Given the description of an element on the screen output the (x, y) to click on. 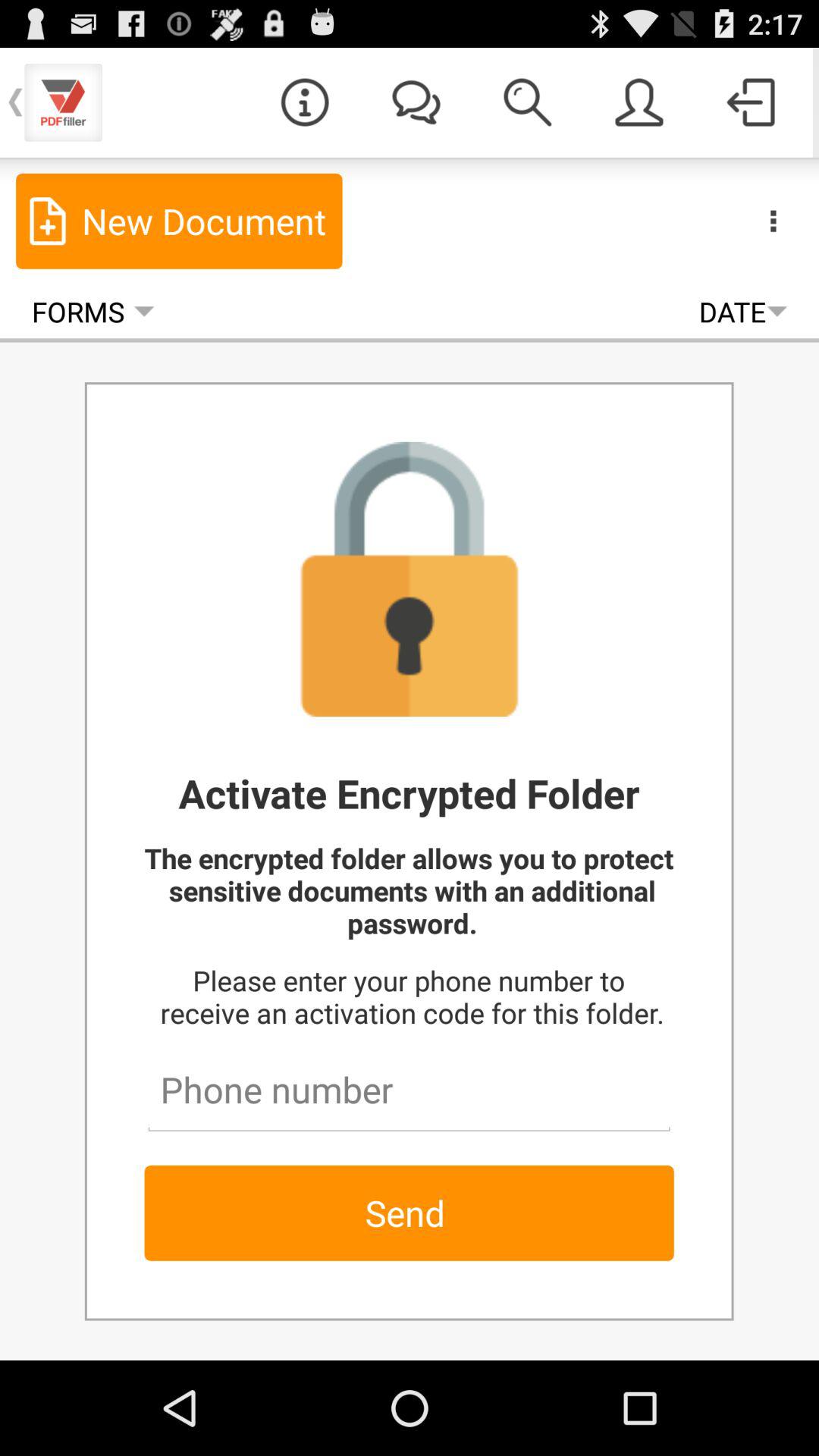
choose the checkbox to the right of the forms	 item (743, 311)
